Given the description of an element on the screen output the (x, y) to click on. 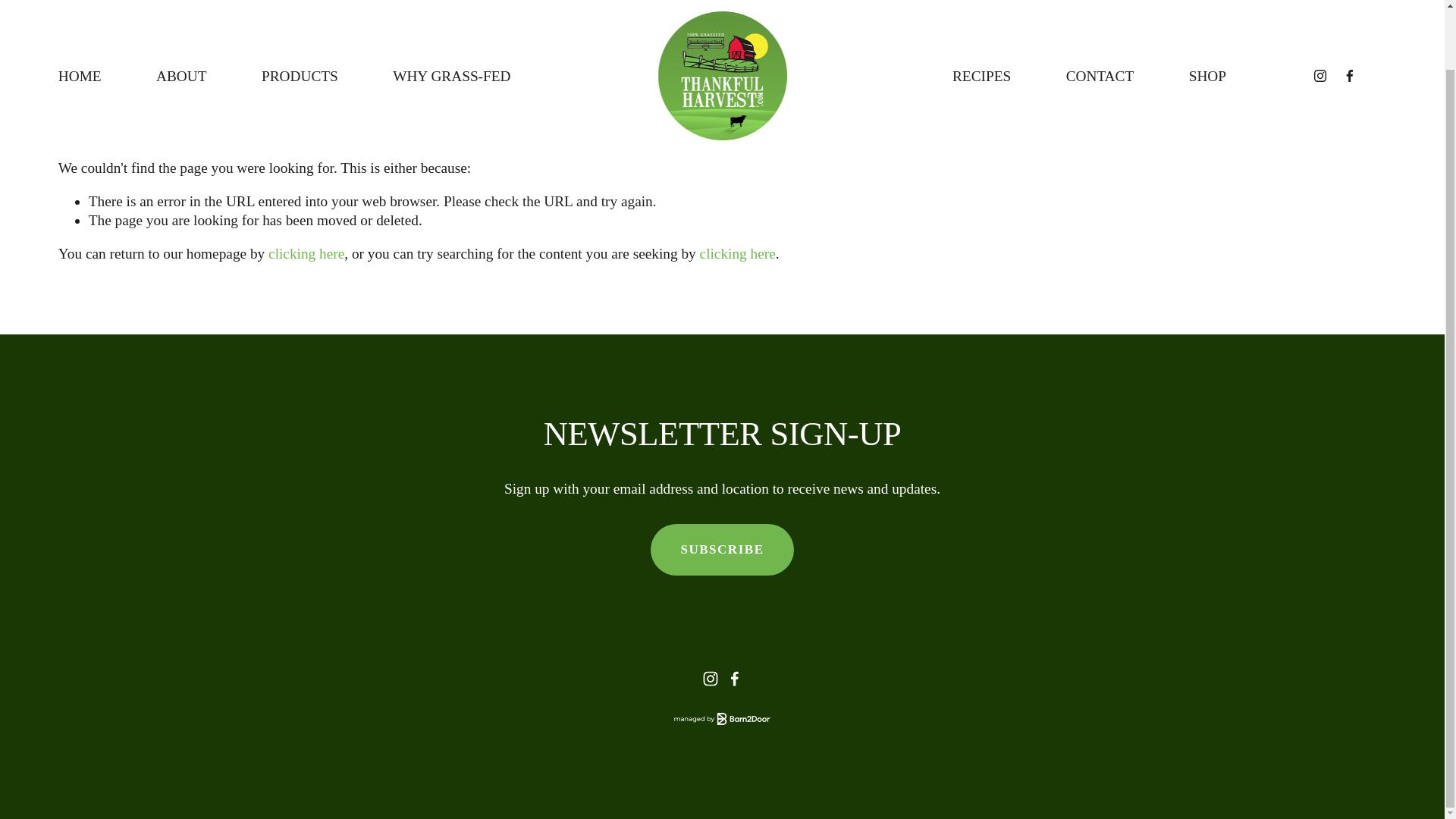
SUBSCRIBE (722, 549)
SHOP (1207, 11)
clicking here (305, 253)
RECIPES (981, 11)
HOME (79, 11)
CONTACT (1099, 11)
ABOUT (180, 11)
clicking here (738, 253)
PRODUCTS (299, 11)
WHY GRASS-FED (452, 11)
